Given the description of an element on the screen output the (x, y) to click on. 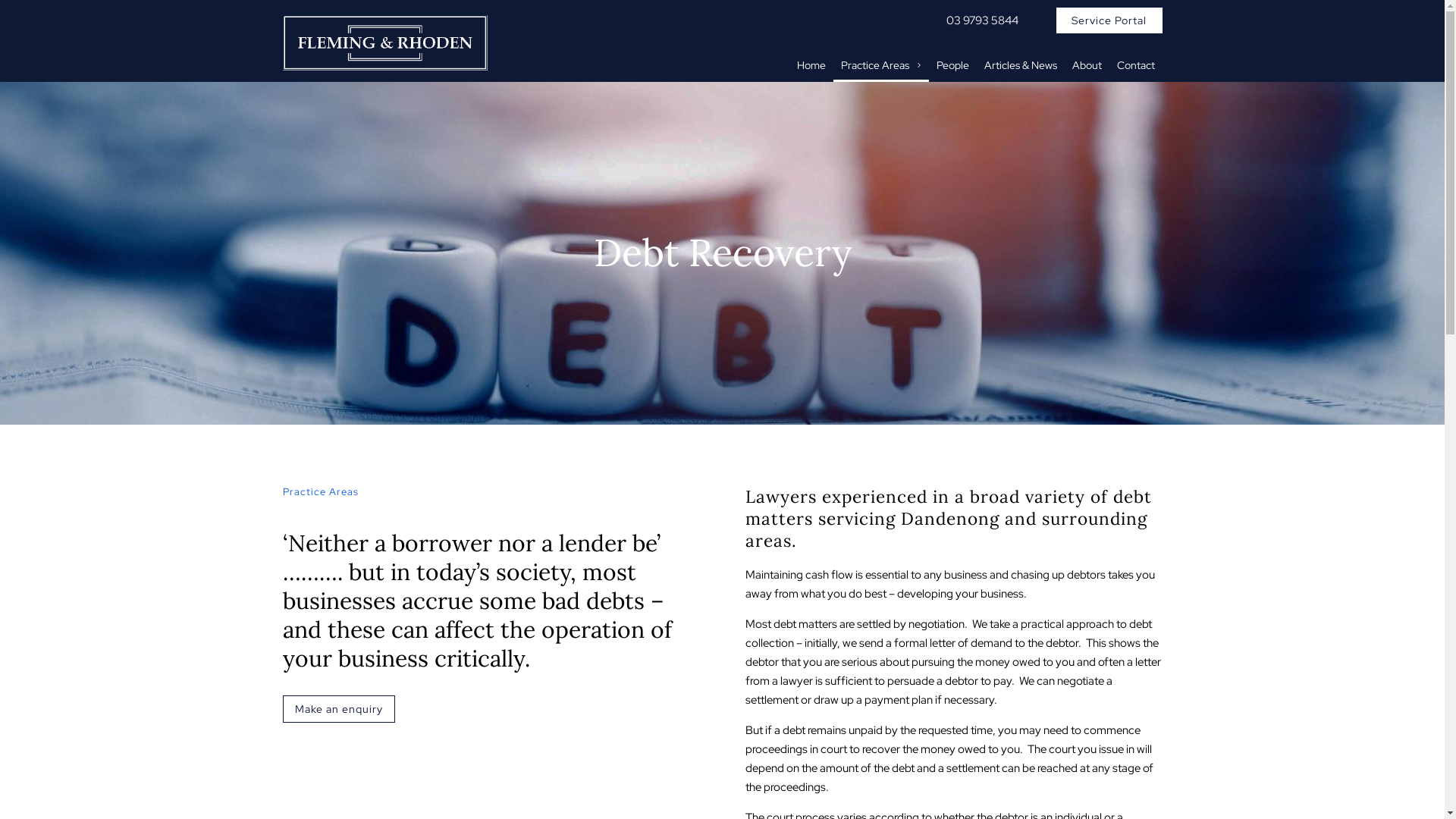
03 9793 5844 Element type: text (982, 20)
Home Element type: text (810, 64)
Articles & News Element type: text (1020, 64)
About Element type: text (1086, 64)
Make an enquiry Element type: text (338, 708)
People Element type: text (951, 64)
Service Portal Element type: text (1108, 20)
Contact Element type: text (1134, 64)
Practice Areas Element type: text (880, 64)
